Given the description of an element on the screen output the (x, y) to click on. 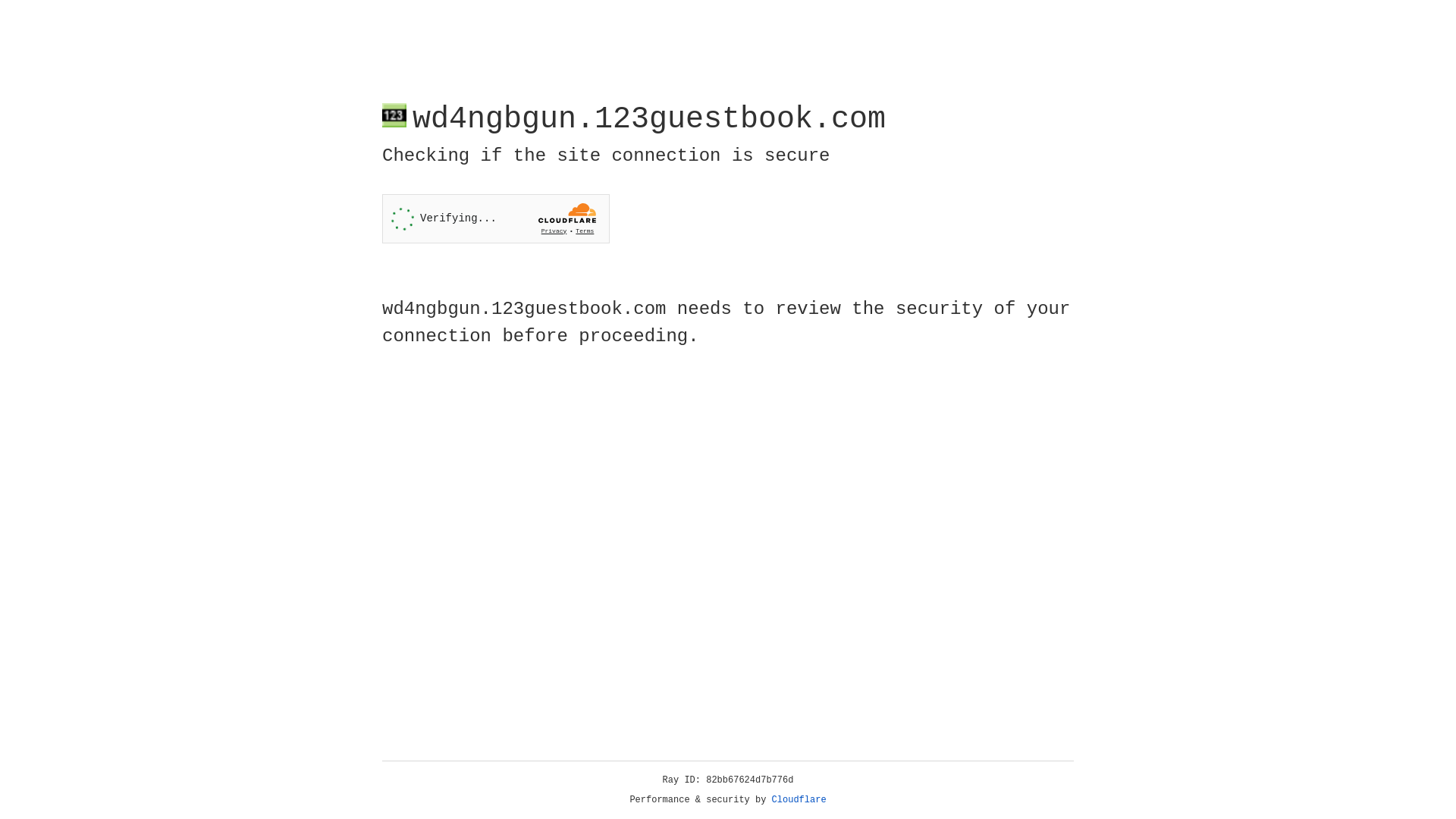
Widget containing a Cloudflare security challenge Element type: hover (495, 218)
Cloudflare Element type: text (798, 799)
